Given the description of an element on the screen output the (x, y) to click on. 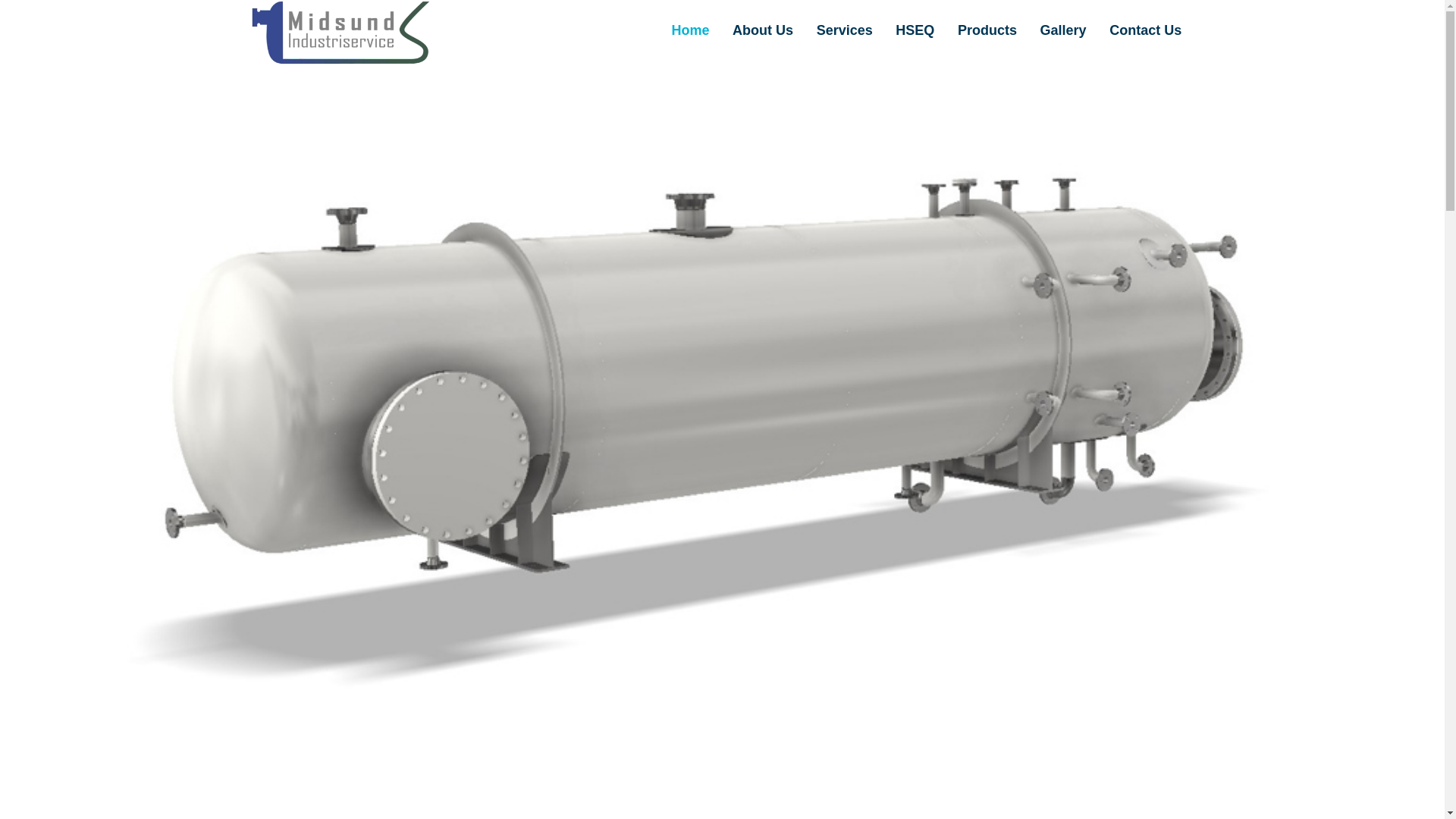
Gallery (1062, 30)
Products (987, 30)
Services (844, 30)
Contact Us (1145, 30)
HSEQ (914, 30)
About Us (762, 30)
Home (689, 30)
